Given the description of an element on the screen output the (x, y) to click on. 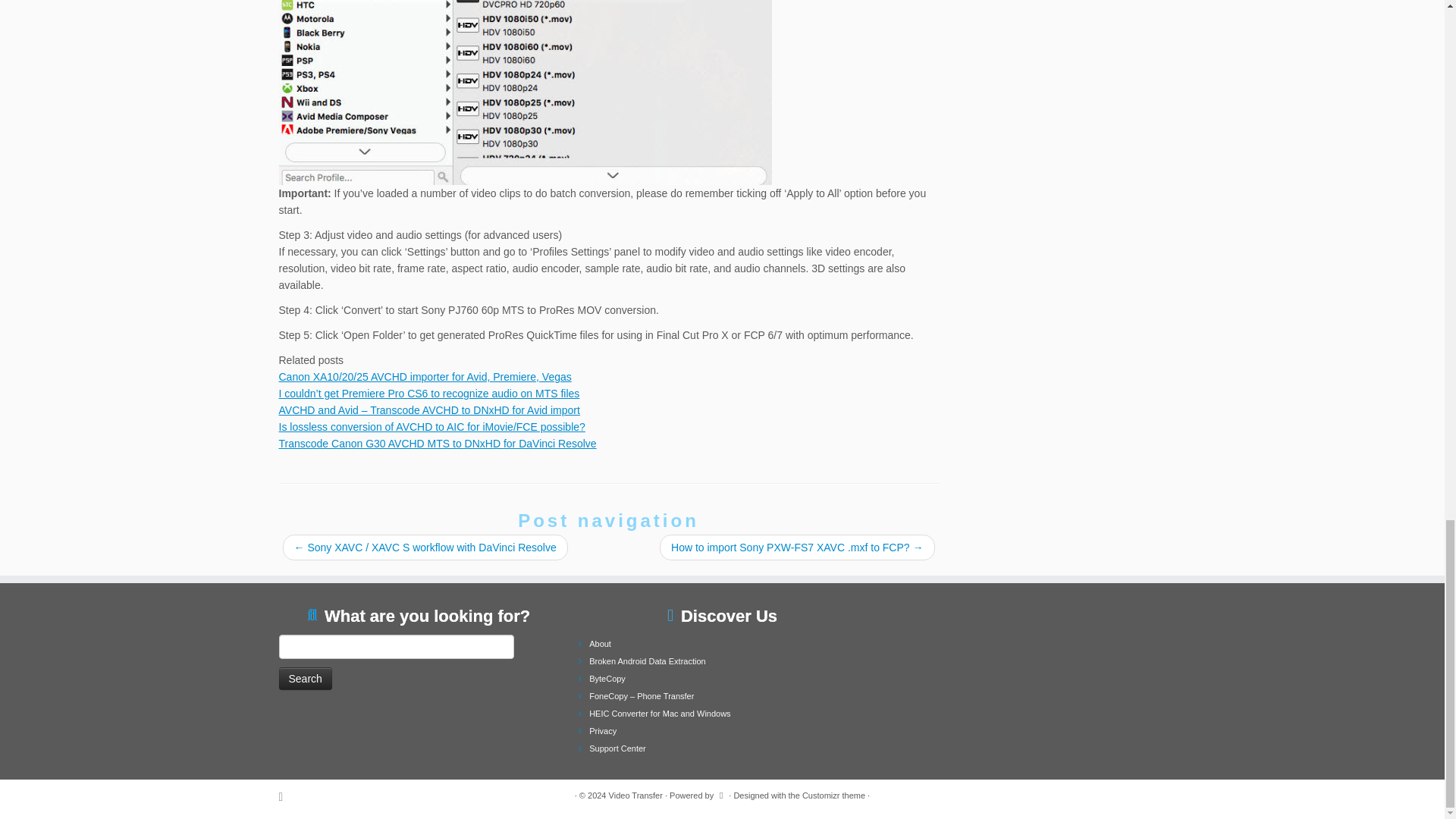
Search (305, 678)
Follow us on Rss (286, 796)
Video Transfer (635, 795)
Powered by WordPress (721, 792)
